Given the description of an element on the screen output the (x, y) to click on. 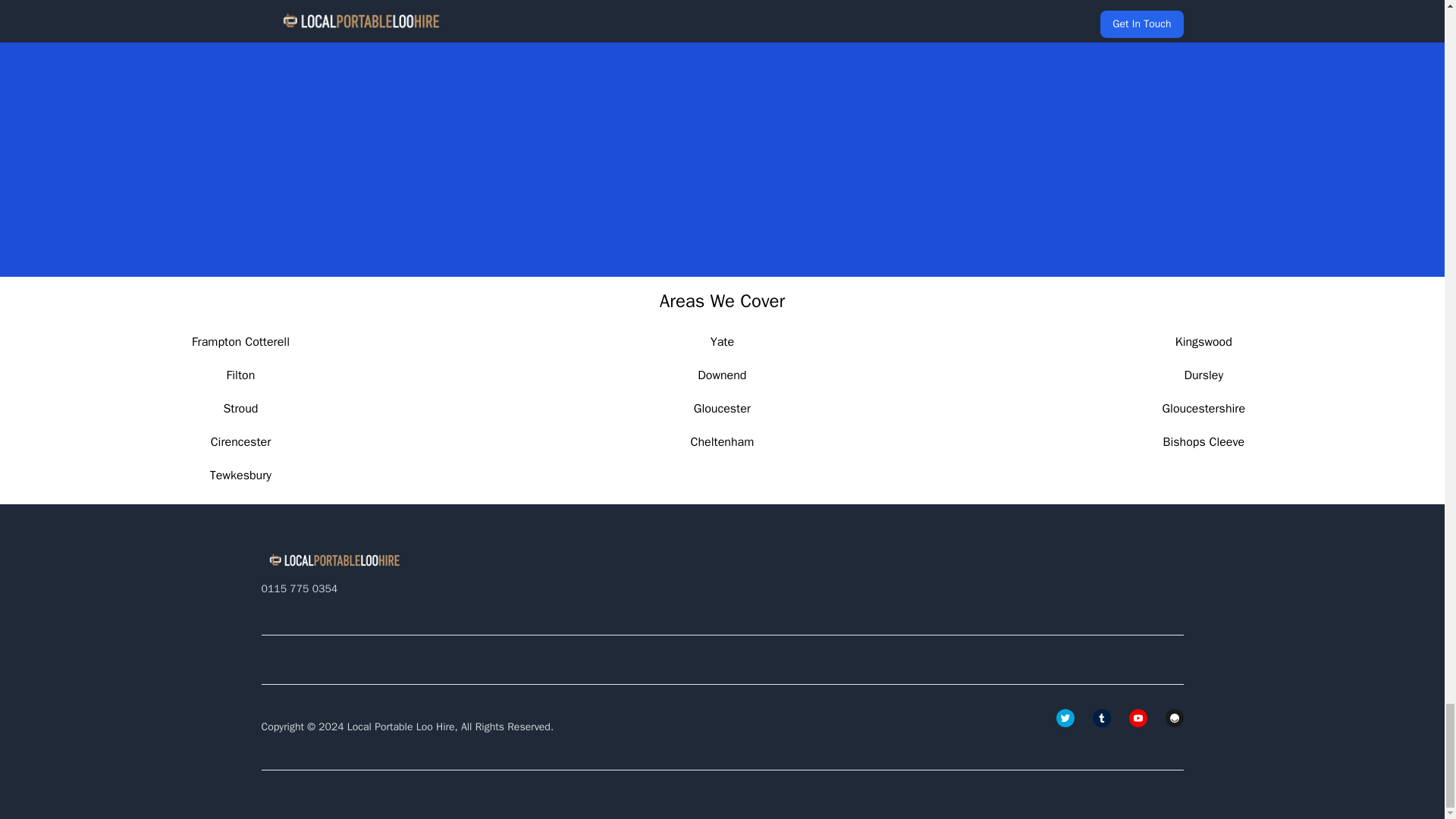
Downend (721, 375)
Dursley (1203, 375)
Filton (241, 375)
Stroud (239, 408)
Frampton Cotterell (240, 341)
Kingswood (1202, 341)
Yate (721, 341)
Gloucester (722, 408)
